Given the description of an element on the screen output the (x, y) to click on. 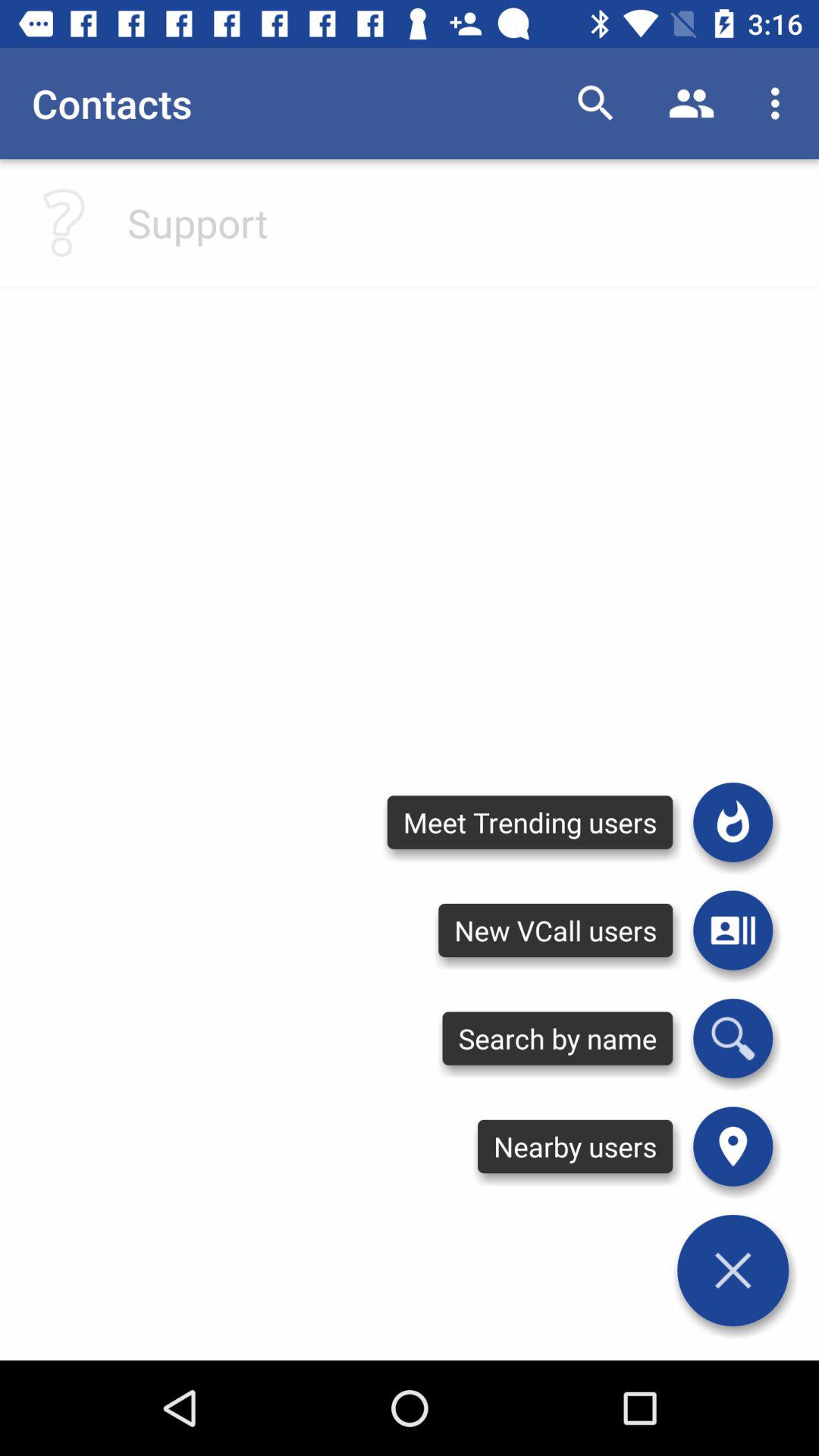
swipe to the search by name icon (557, 1038)
